Given the description of an element on the screen output the (x, y) to click on. 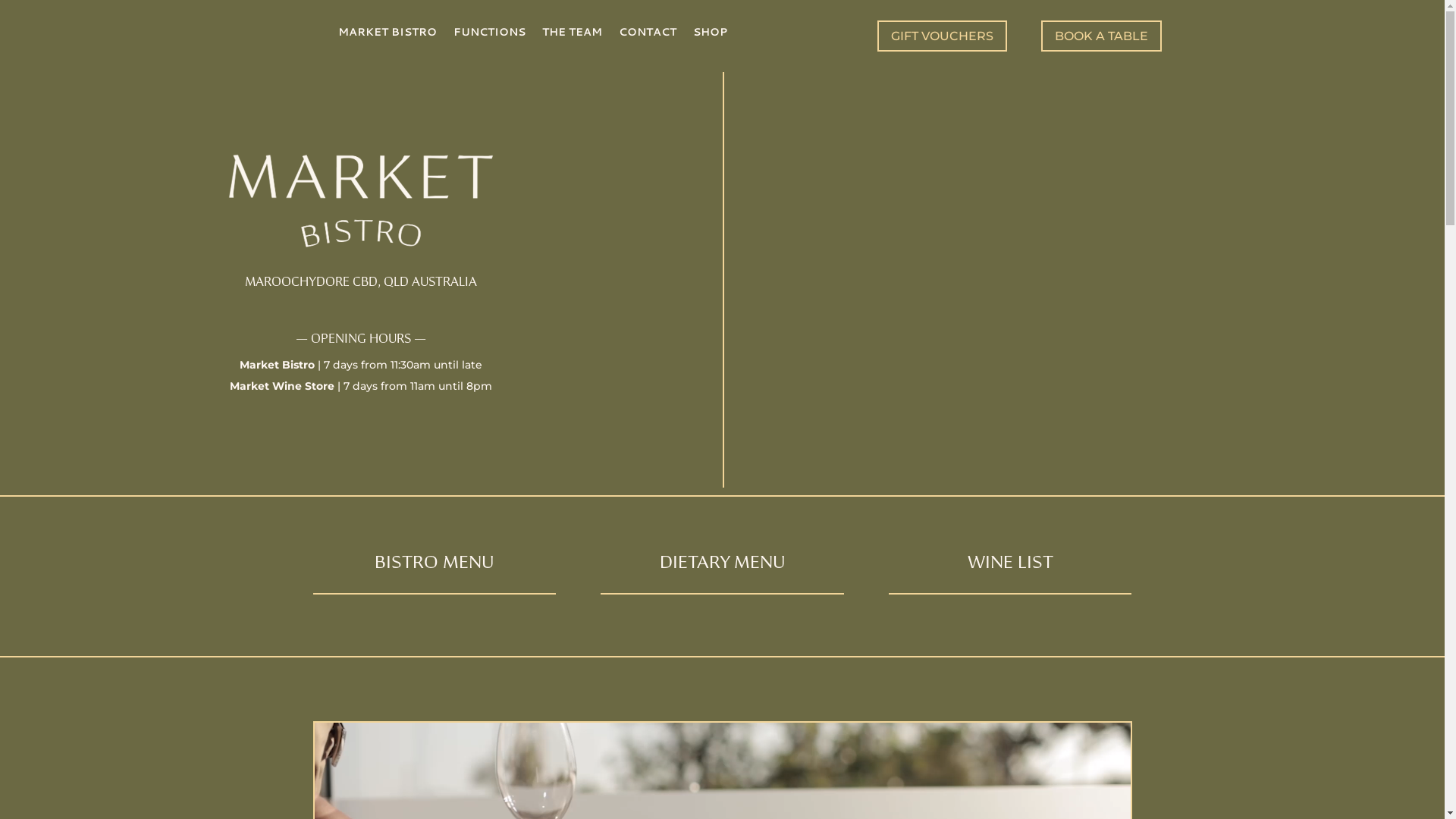
market_bistro_cream Element type: hover (360, 200)
GIFT VOUCHERS Element type: text (941, 35)
MARKET BISTRO Element type: text (387, 34)
CONTACT Element type: text (647, 34)
BOOK A TABLE Element type: text (1101, 35)
SHOP Element type: text (710, 34)
FUNCTIONS Element type: text (489, 34)
THE TEAM Element type: text (572, 34)
